Given the description of an element on the screen output the (x, y) to click on. 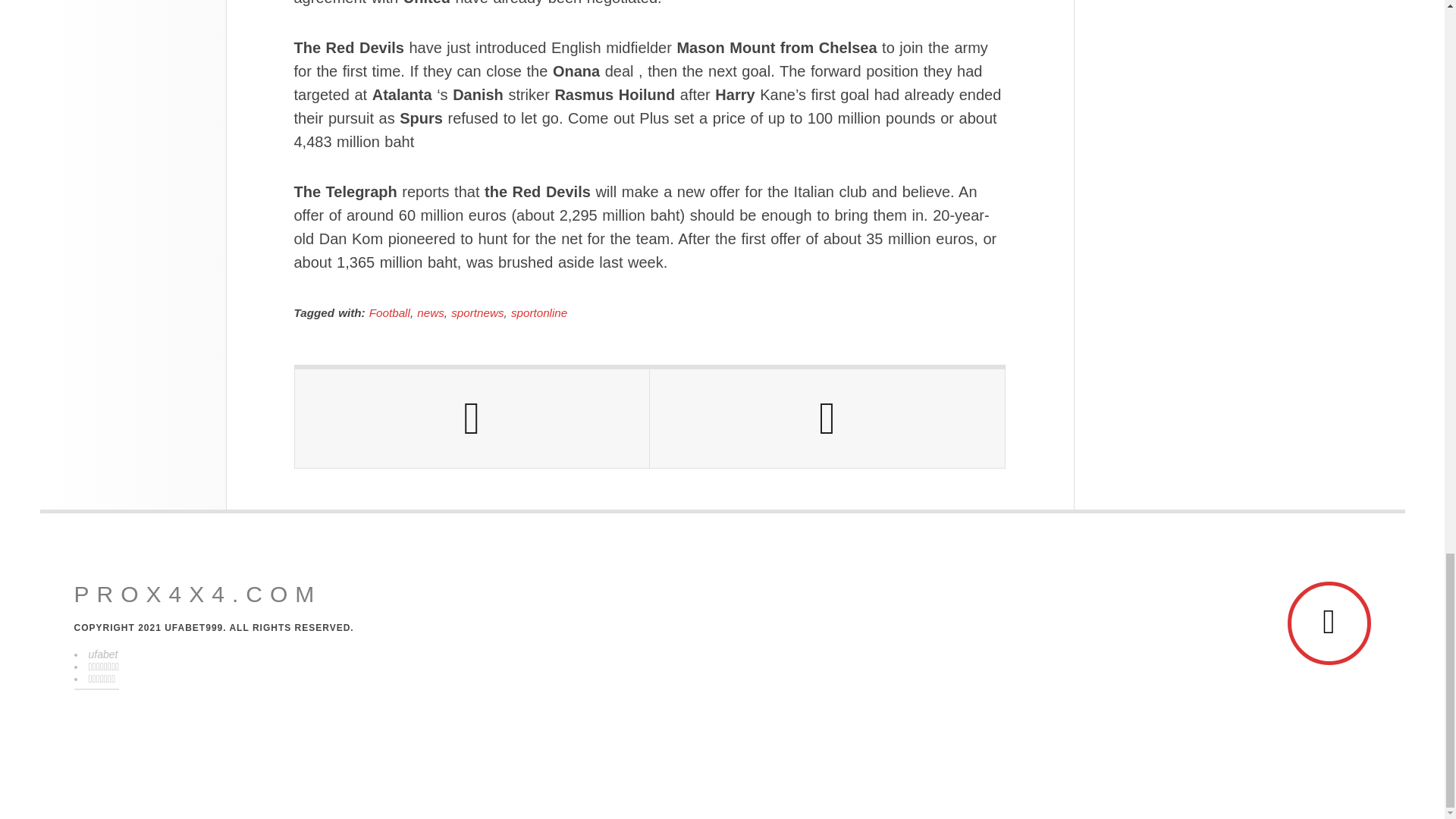
sportnews (477, 312)
sportonline (539, 312)
Previous Post (471, 418)
Next Post (826, 418)
prox4x4.com (197, 594)
Football (389, 312)
news (430, 312)
